Given the description of an element on the screen output the (x, y) to click on. 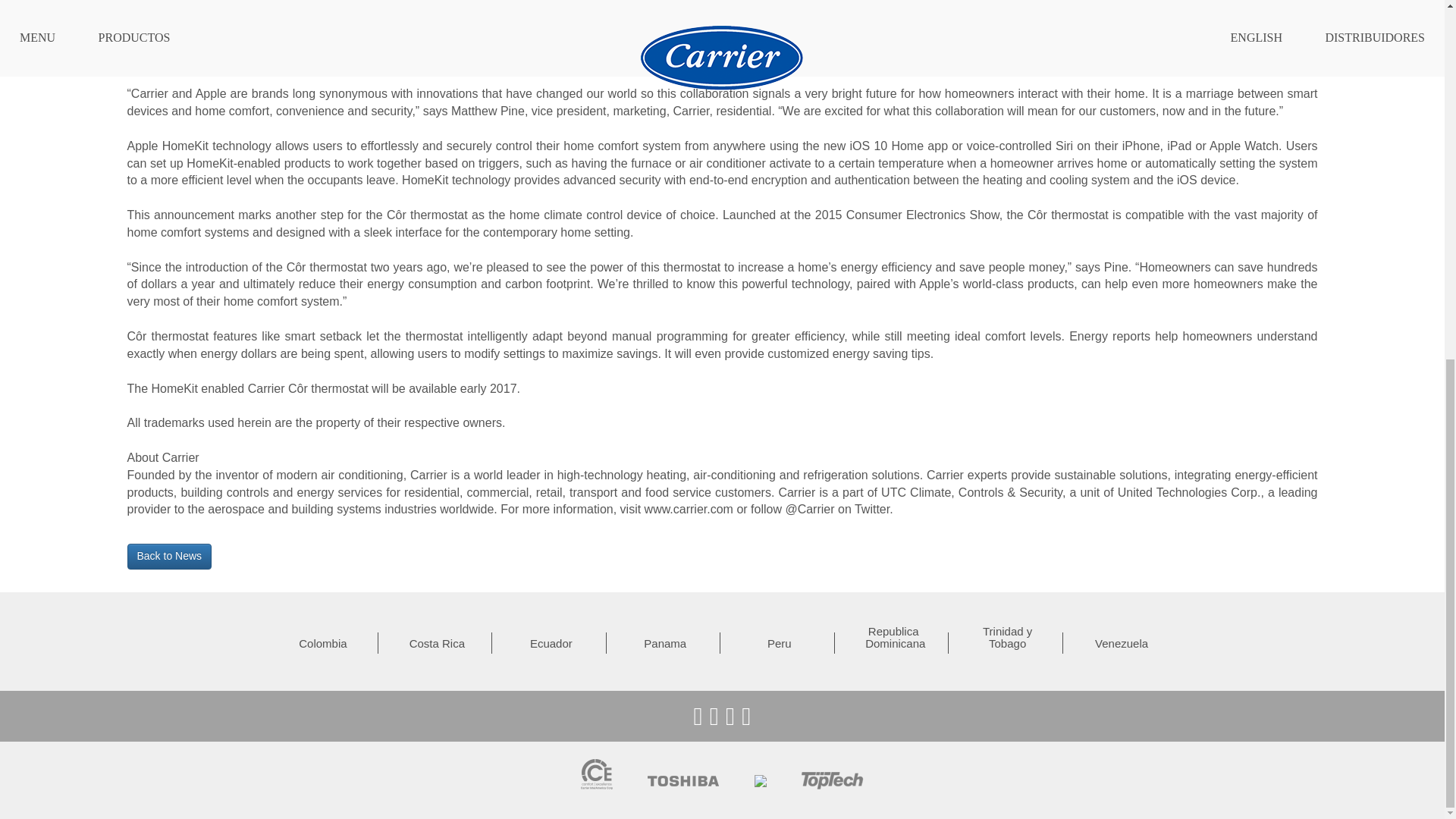
Peru (779, 644)
Panama (665, 644)
Ecuador (550, 644)
Colombia (322, 644)
Back to News (170, 556)
Republica Dominicana (892, 637)
Costa Rica (436, 644)
